Given the description of an element on the screen output the (x, y) to click on. 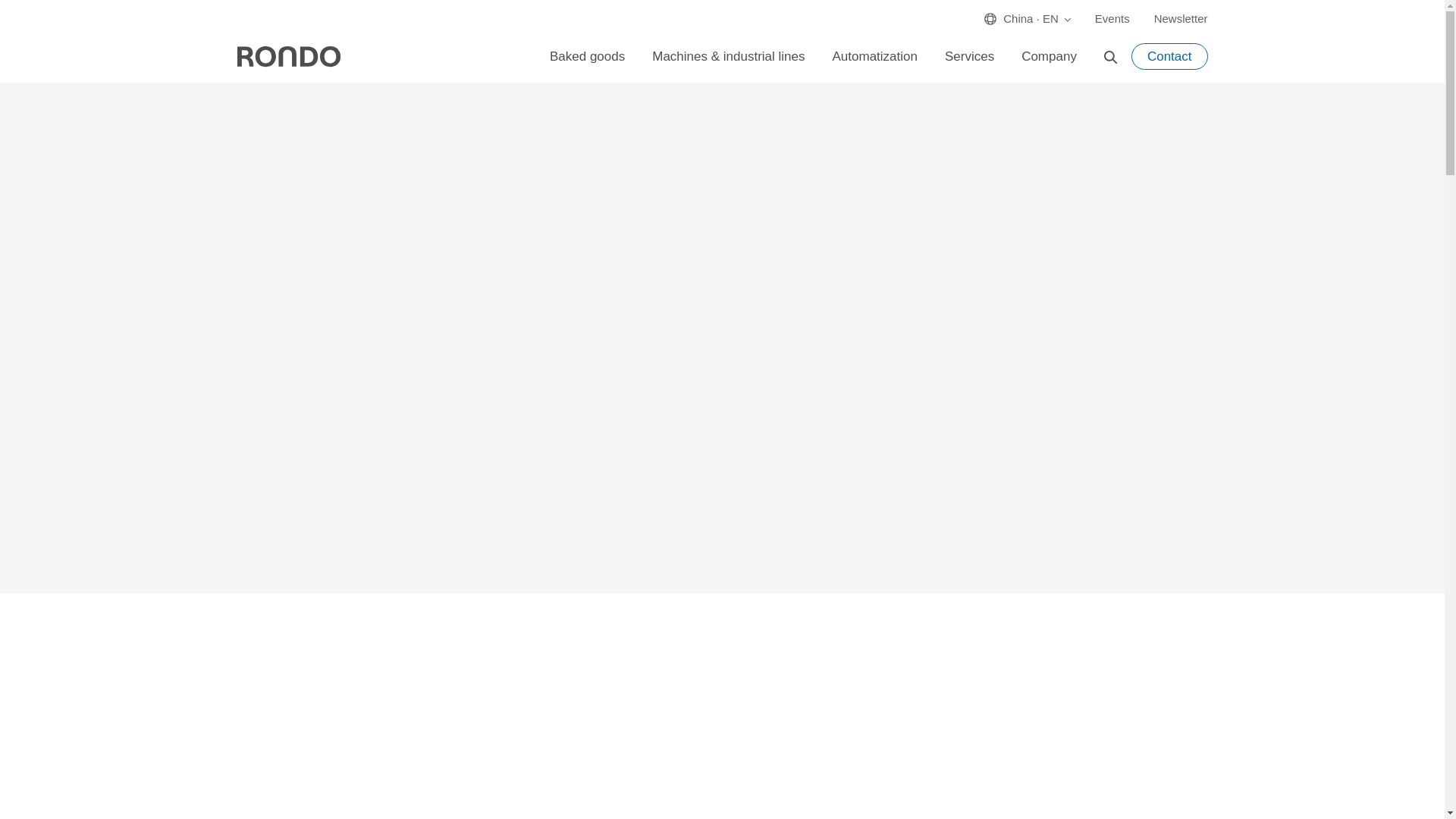
Services (969, 56)
Baked goods (587, 56)
Events (1112, 15)
Newsletter (1174, 15)
Automatization (874, 56)
Company (1048, 56)
Contact (1169, 56)
